Given the description of an element on the screen output the (x, y) to click on. 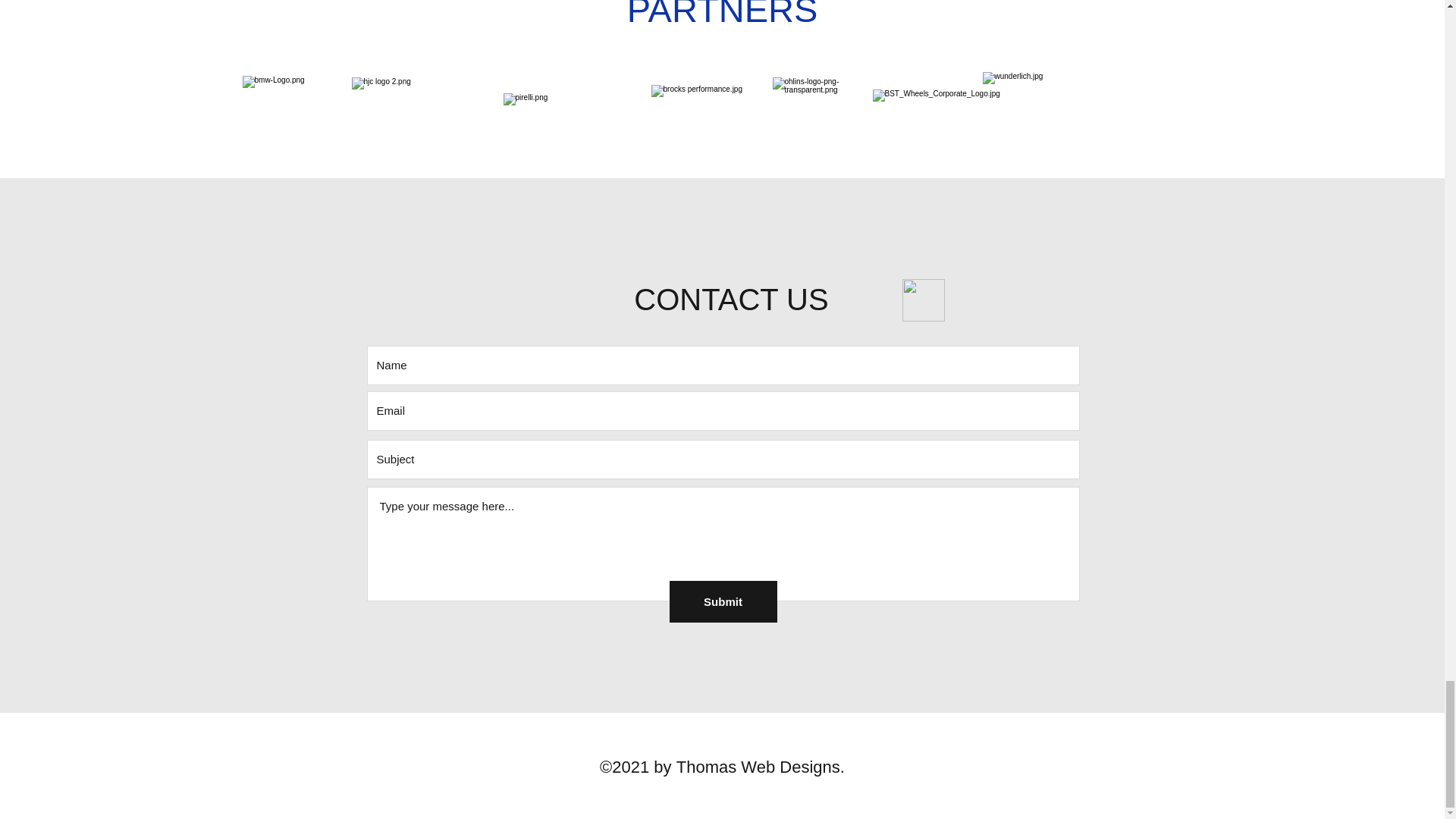
Submit (722, 601)
